Given the description of an element on the screen output the (x, y) to click on. 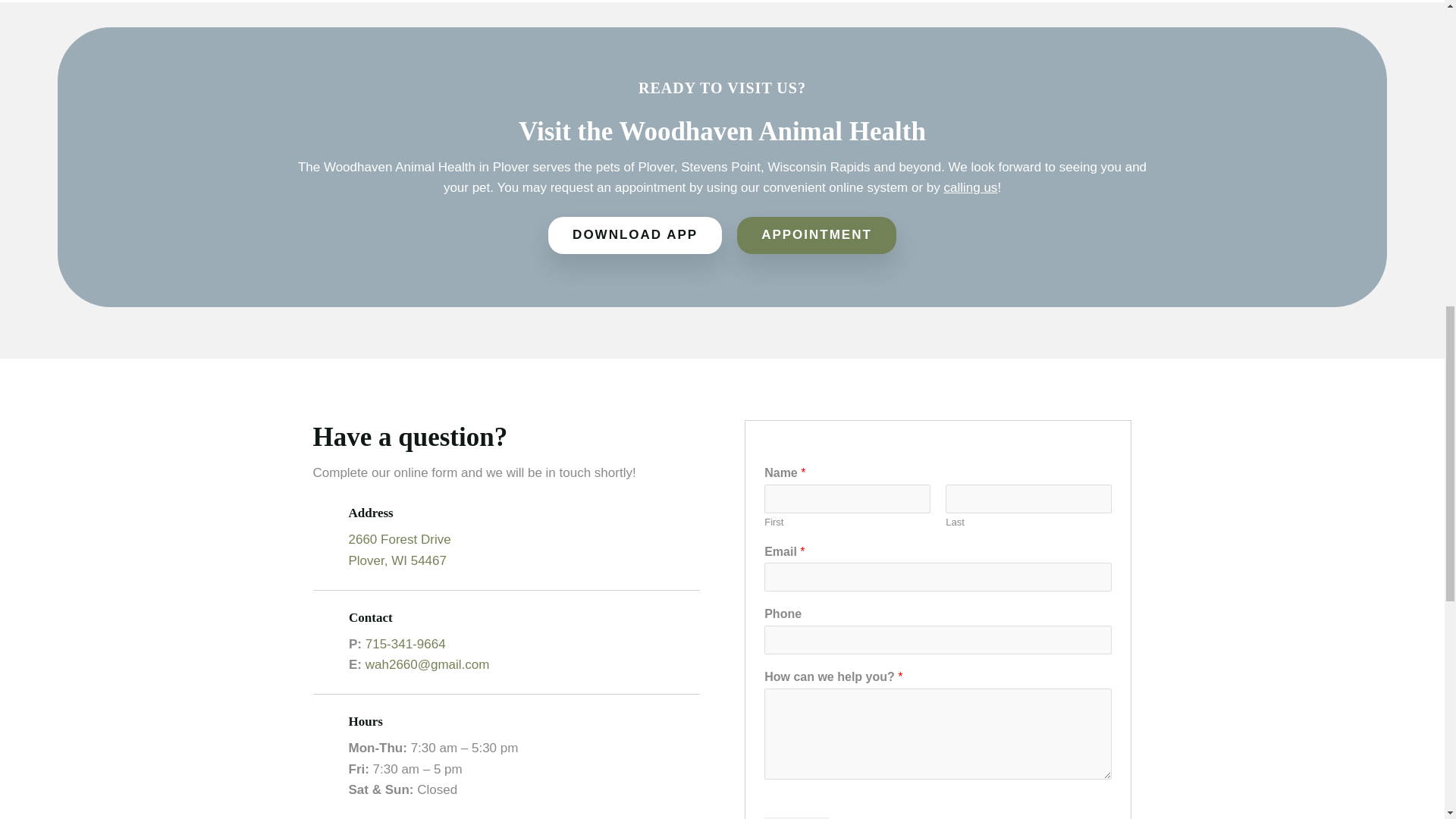
2660 Forest Drive (400, 539)
calling us (970, 187)
Plover, WI 54467 (397, 560)
DOWNLOAD APP (635, 235)
APPOINTMENT (816, 235)
715-341-9664 (405, 644)
